Given the description of an element on the screen output the (x, y) to click on. 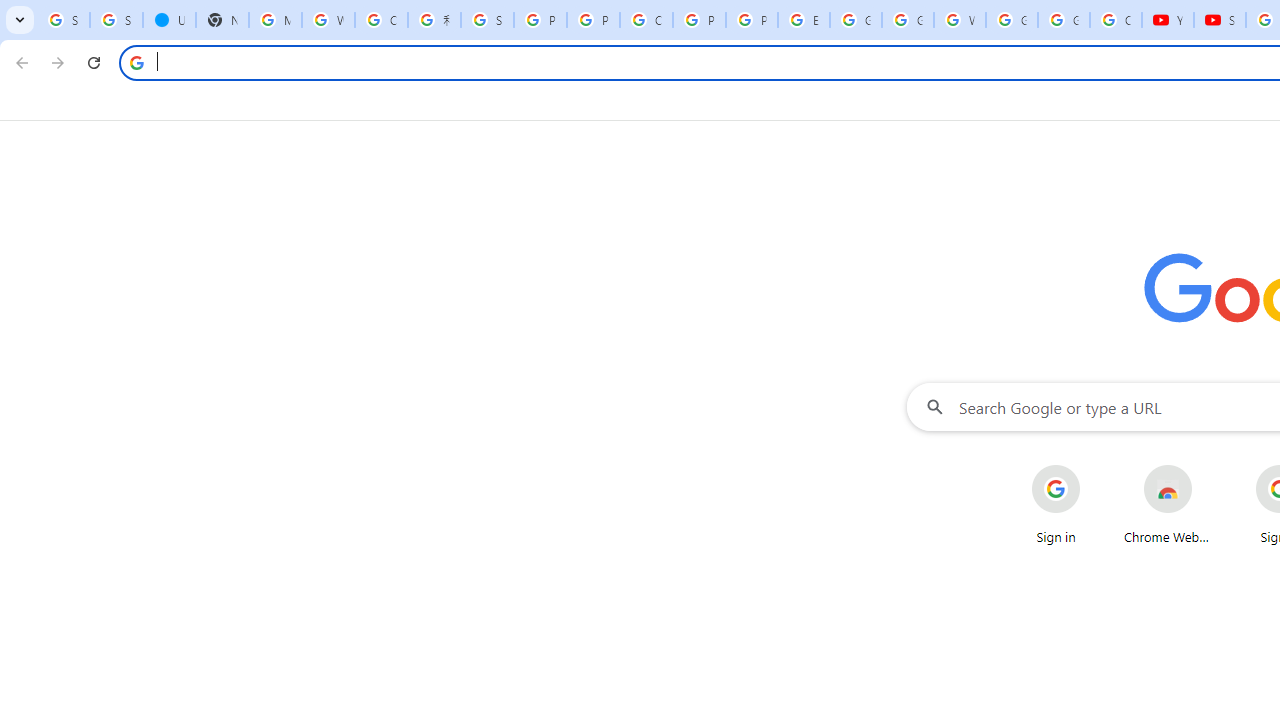
New Tab (222, 20)
